Given the description of an element on the screen output the (x, y) to click on. 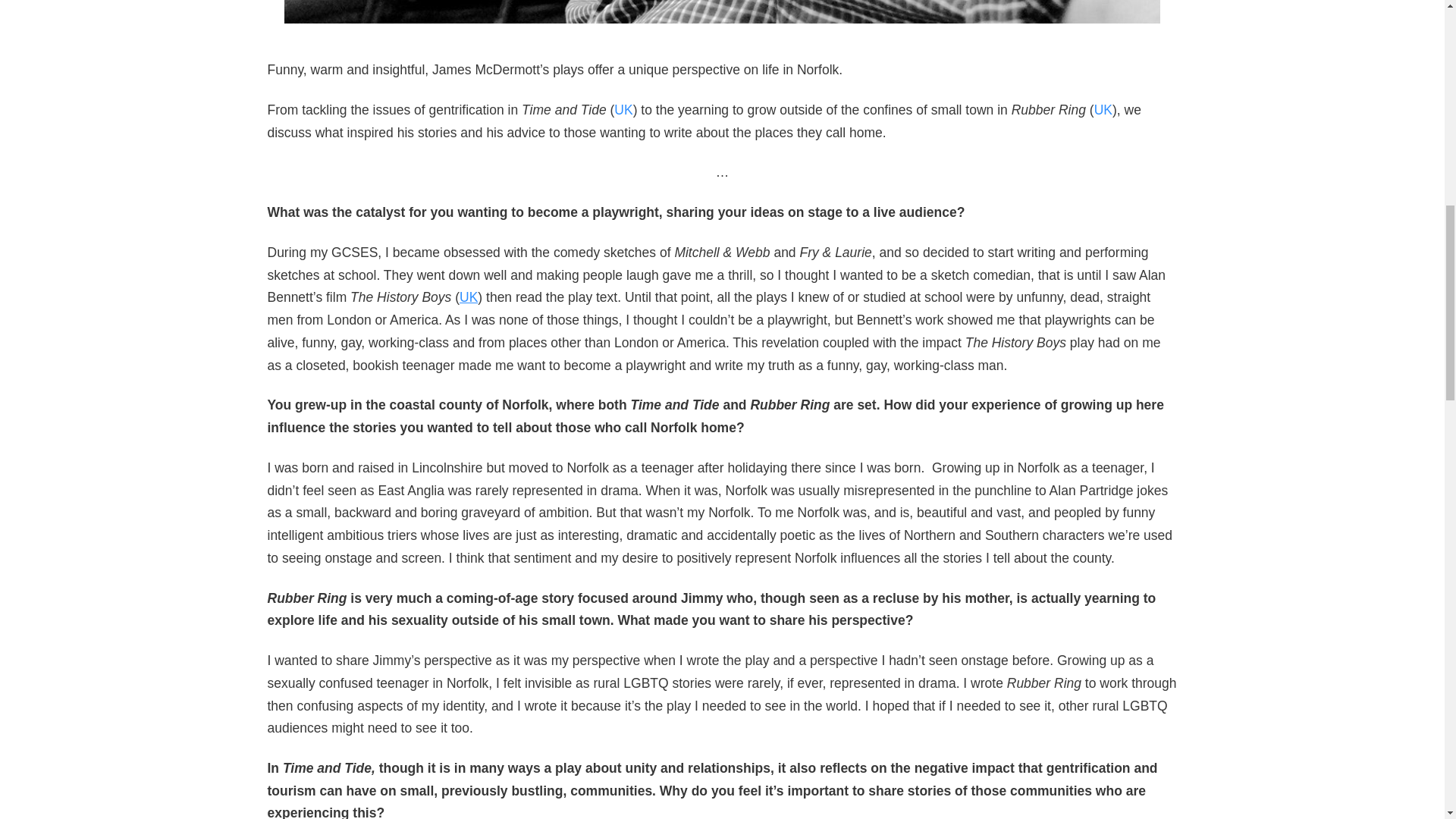
UK (468, 296)
UK (622, 109)
UK (1103, 109)
